Given the description of an element on the screen output the (x, y) to click on. 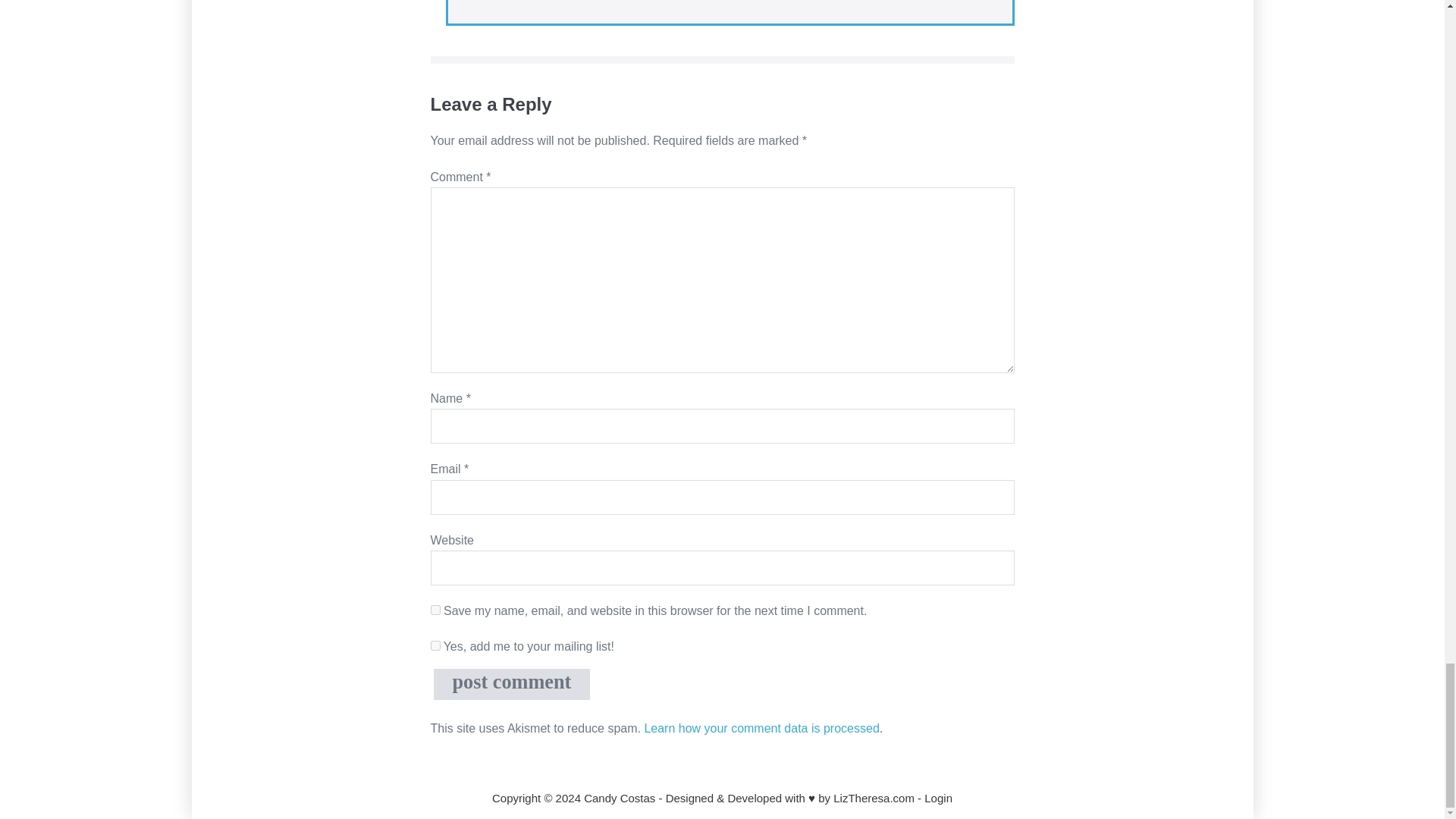
LizTheresa.com (873, 797)
Post Comment (512, 684)
Reply (482, 2)
Post Comment (512, 684)
Login (938, 797)
Learn how your comment data is processed (761, 727)
1 (435, 645)
yes (435, 610)
